Given the description of an element on the screen output the (x, y) to click on. 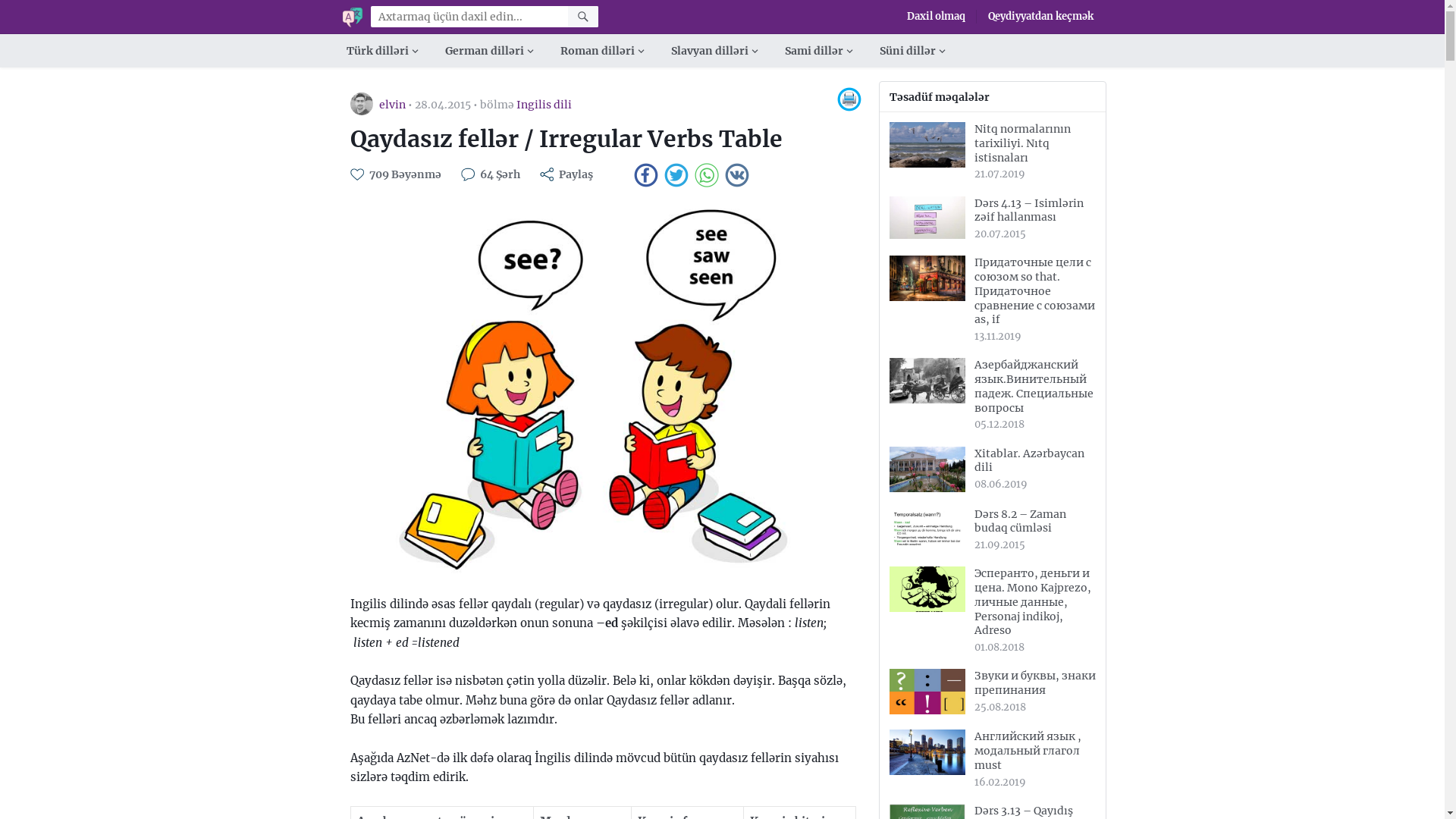
elvin Element type: text (392, 104)
Ingilis dili Element type: text (543, 104)
Daxil olmaq Element type: text (934, 16)
